Given the description of an element on the screen output the (x, y) to click on. 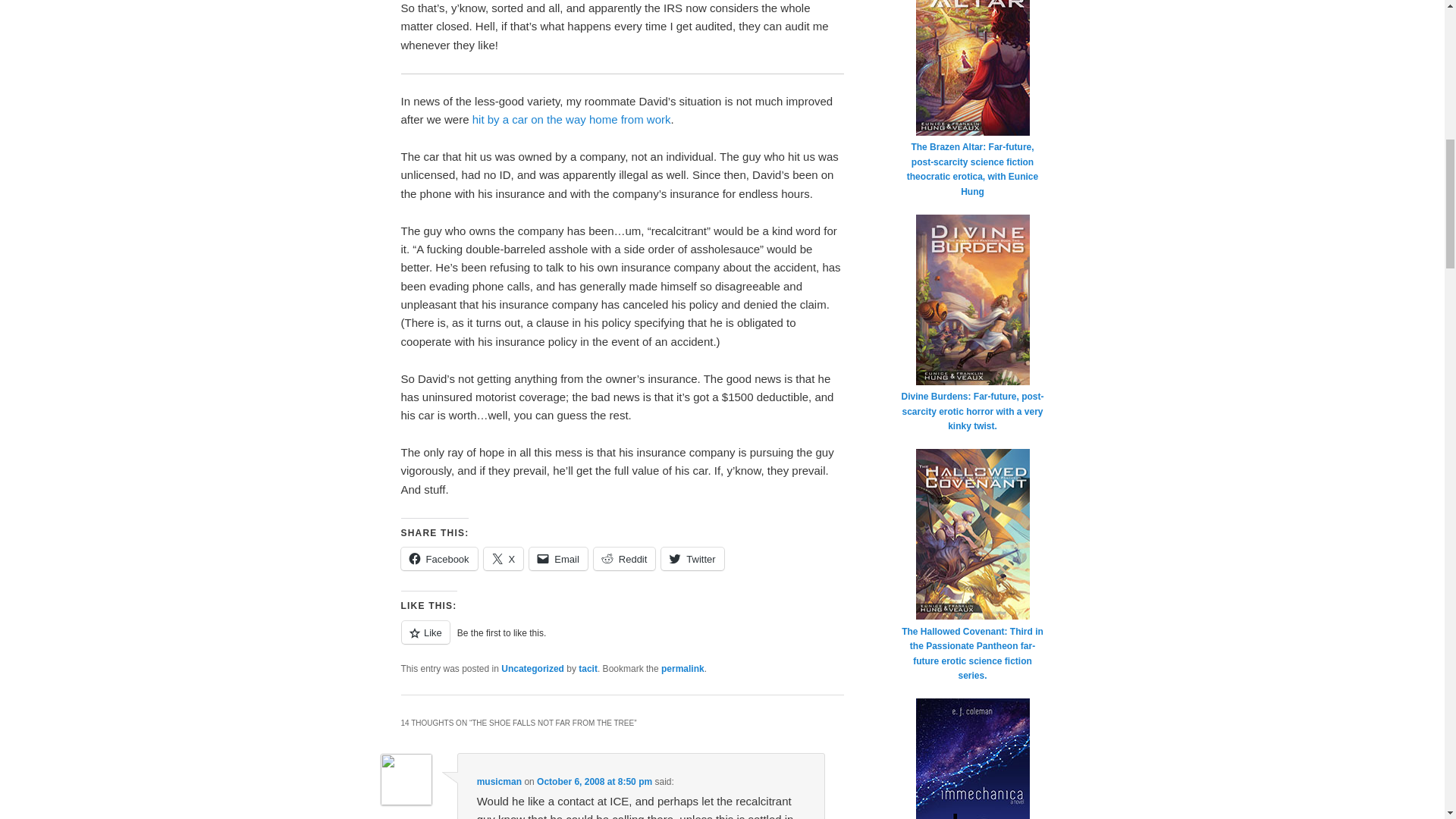
Click to share on Twitter (692, 558)
Click to share on X (503, 558)
Uncategorized (532, 668)
October 6, 2008 at 8:50 pm (594, 781)
Twitter (692, 558)
Click to email a link to a friend (558, 558)
Email (558, 558)
musicman (499, 781)
permalink (682, 668)
Like or Reblog (621, 640)
Reddit (625, 558)
Click to share on Reddit (625, 558)
Click to share on Facebook (438, 558)
Facebook (438, 558)
X (503, 558)
